Given the description of an element on the screen output the (x, y) to click on. 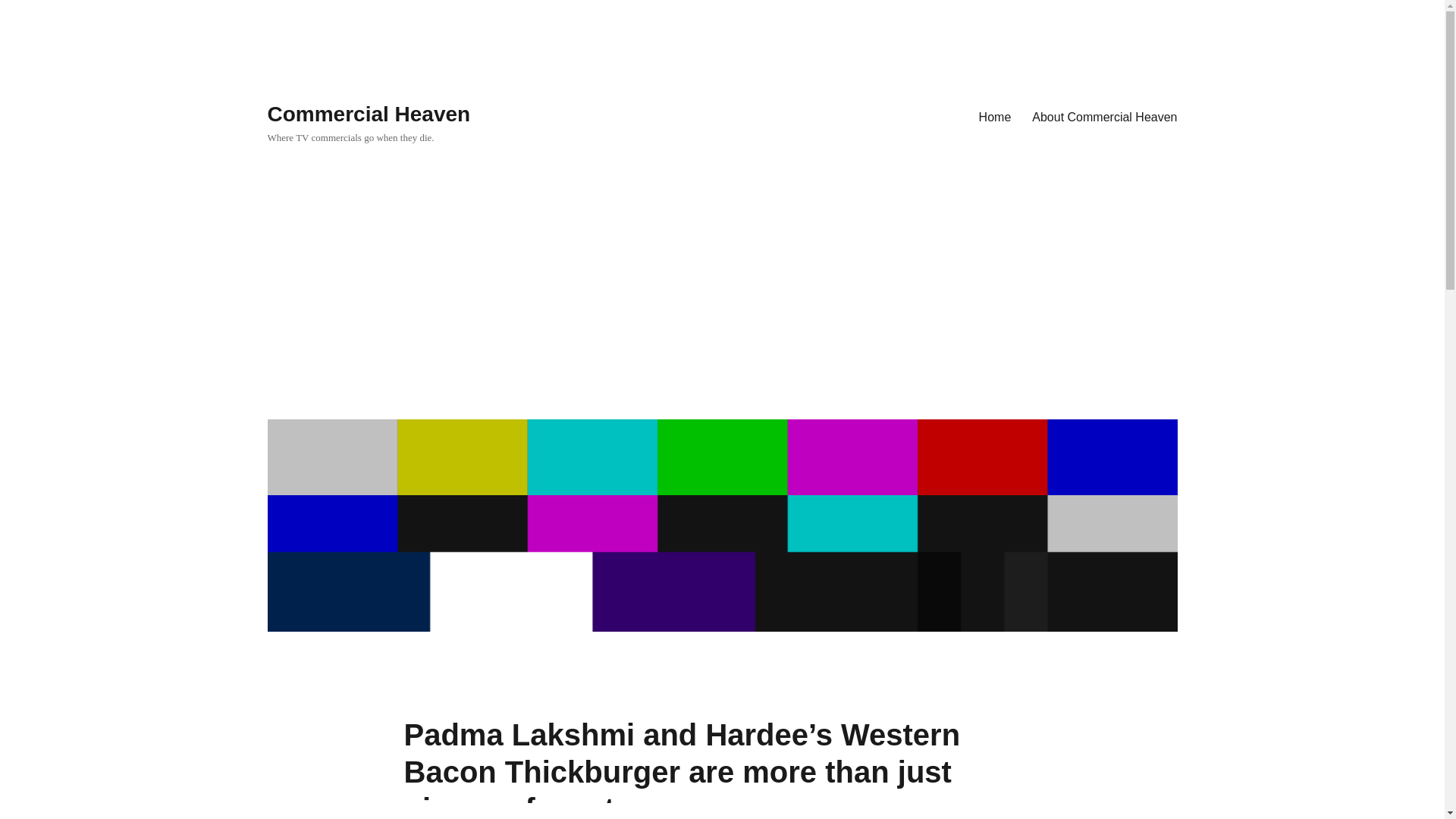
About Commercial Heaven (1105, 116)
Home (995, 116)
Commercial Heaven (368, 114)
